Given the description of an element on the screen output the (x, y) to click on. 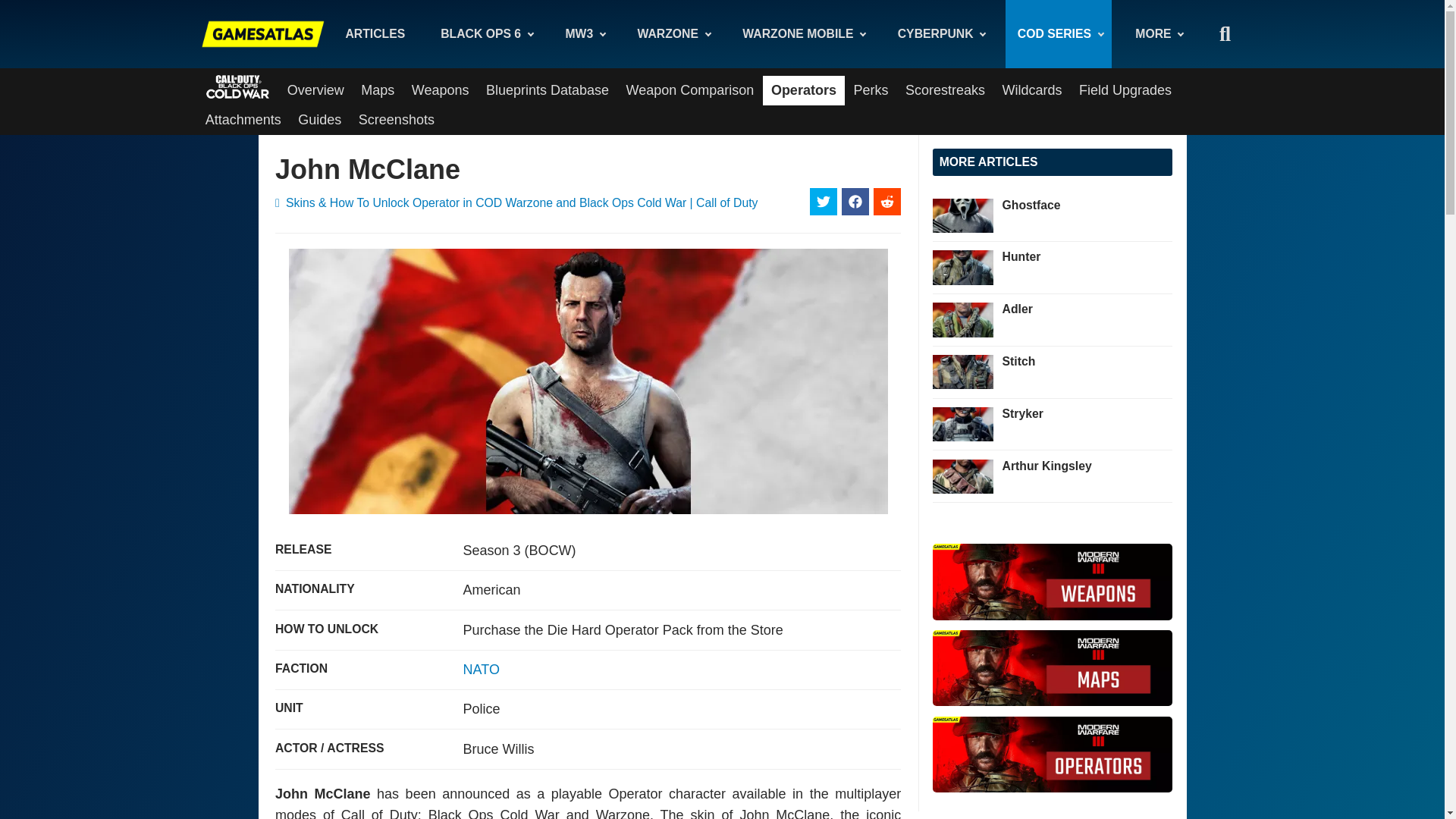
reddit (887, 201)
WARZONE (672, 33)
Faction: NATO (481, 669)
CYBERPUNK (939, 33)
BLACK OPS 6 (484, 33)
Games Atlas (263, 33)
WARZONE MOBILE (802, 33)
MW3 (583, 33)
Games Atlas (263, 33)
ARTICLES (374, 33)
